Given the description of an element on the screen output the (x, y) to click on. 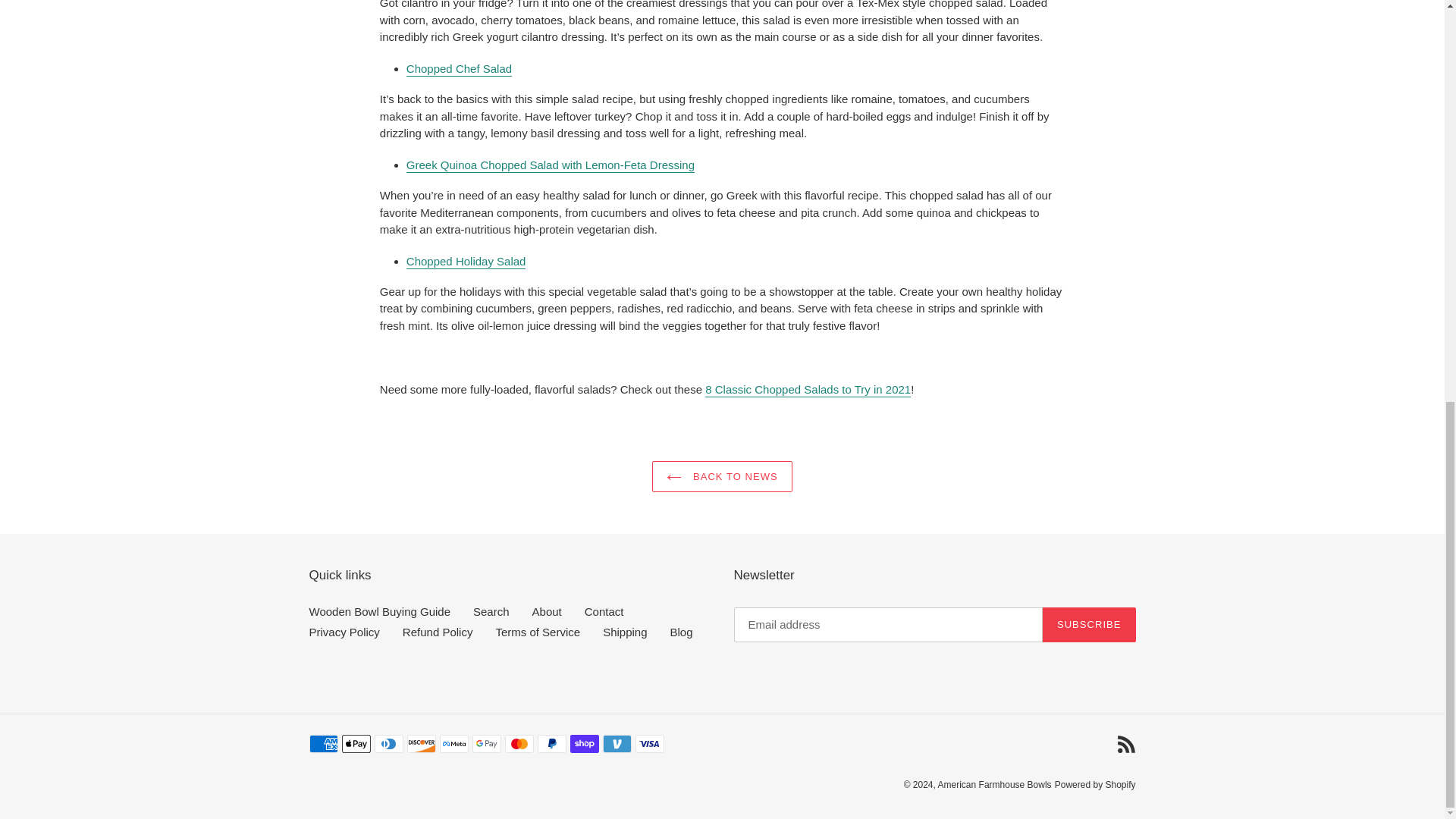
8 Classic Chopped Salads to Try in 2021 (807, 390)
